Given the description of an element on the screen output the (x, y) to click on. 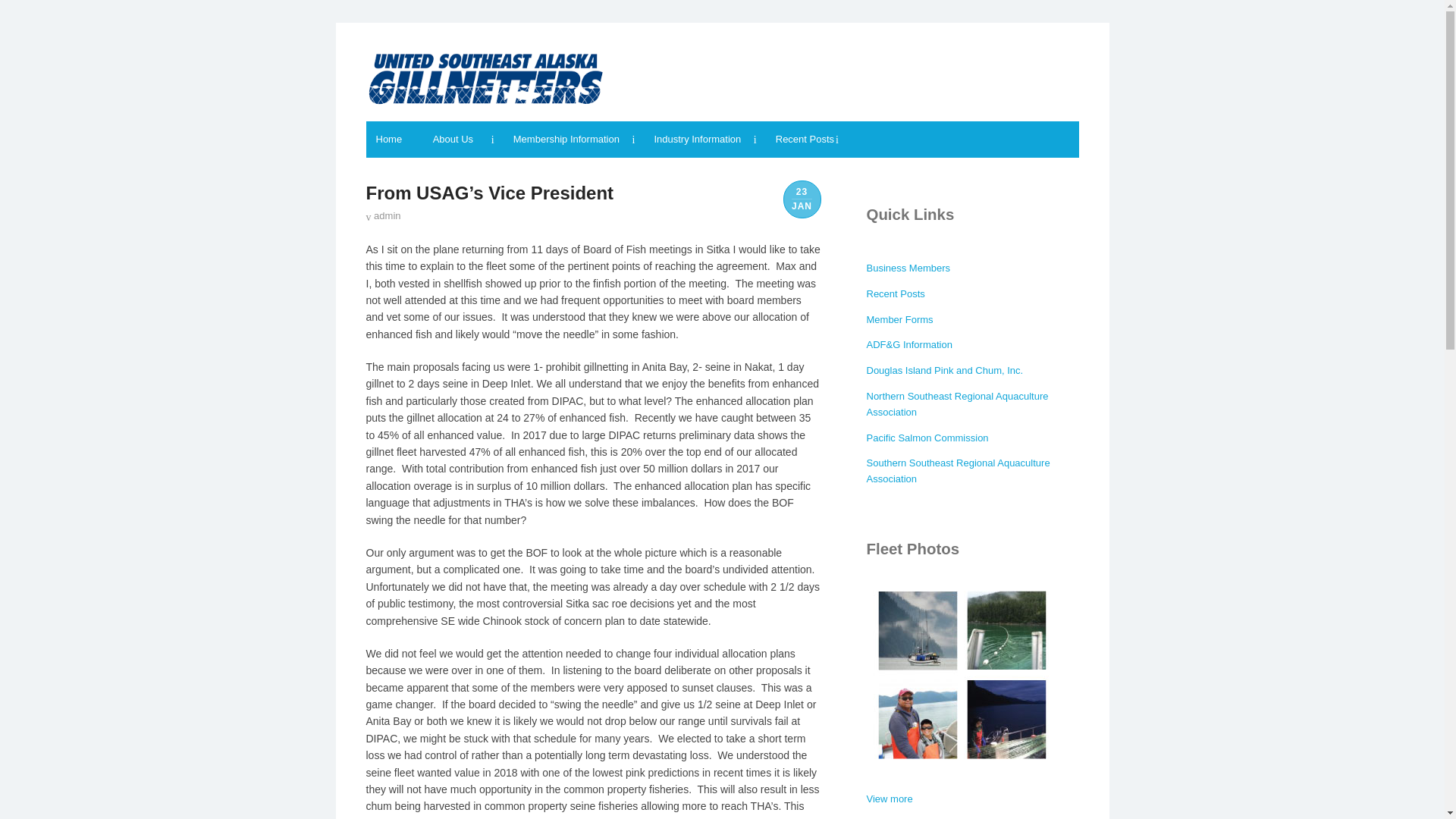
Pacific Salmon Commission (927, 437)
United Southeast Alaska Gillnetters Association (484, 77)
admin (382, 215)
Membership Information     (574, 139)
Business Members (908, 267)
Member Forms (899, 319)
Recent Posts (806, 139)
About Us       (463, 139)
Northern Southeast Regional Aquaculture Association (957, 403)
Recent Posts (895, 293)
Douglas Island Pink and Chum, Inc. (944, 369)
nformation (928, 344)
Industry Information     (704, 139)
Home     (393, 139)
